Given the description of an element on the screen output the (x, y) to click on. 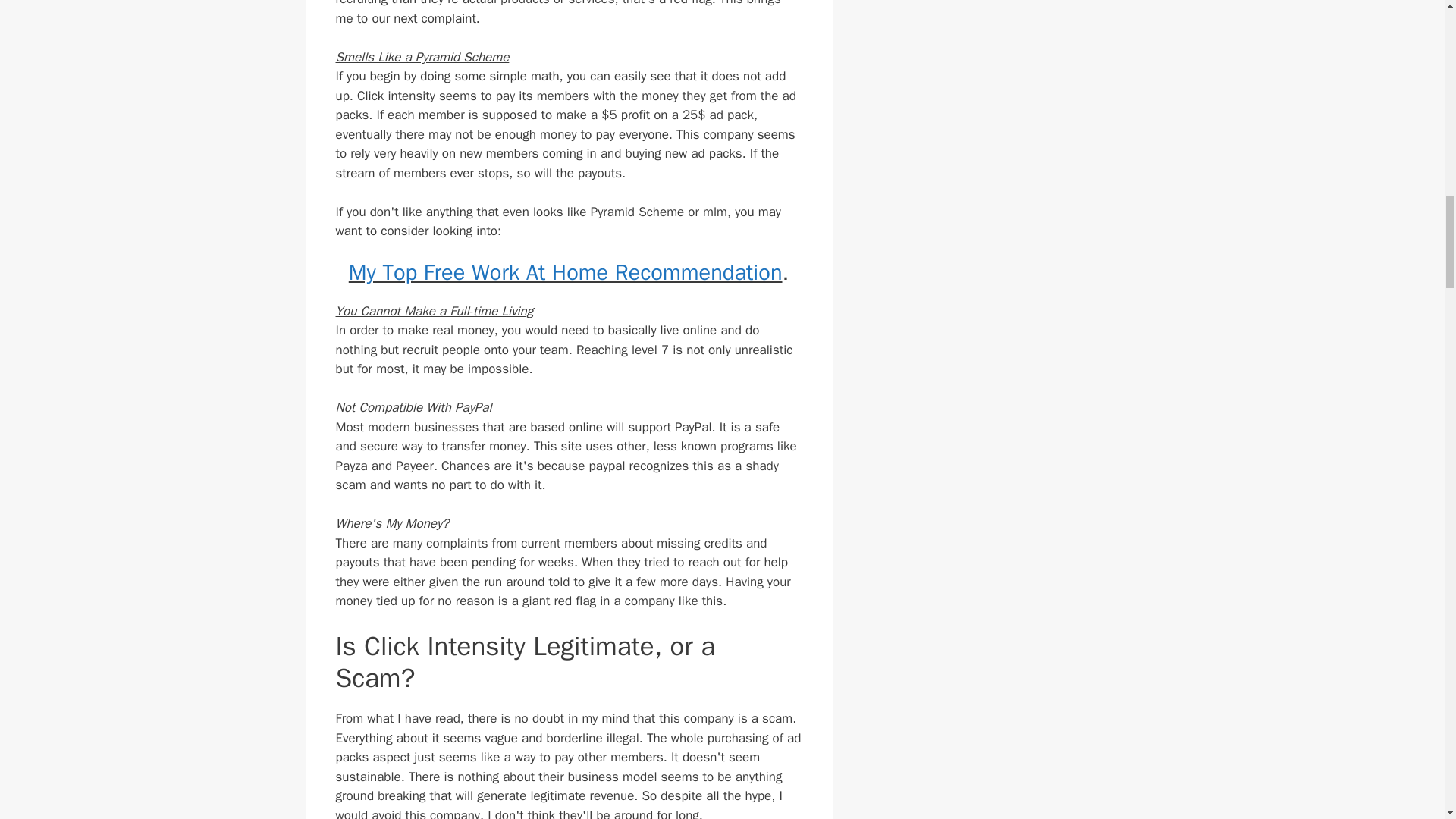
My Top Free Work At Home Recommendation (566, 272)
